Given the description of an element on the screen output the (x, y) to click on. 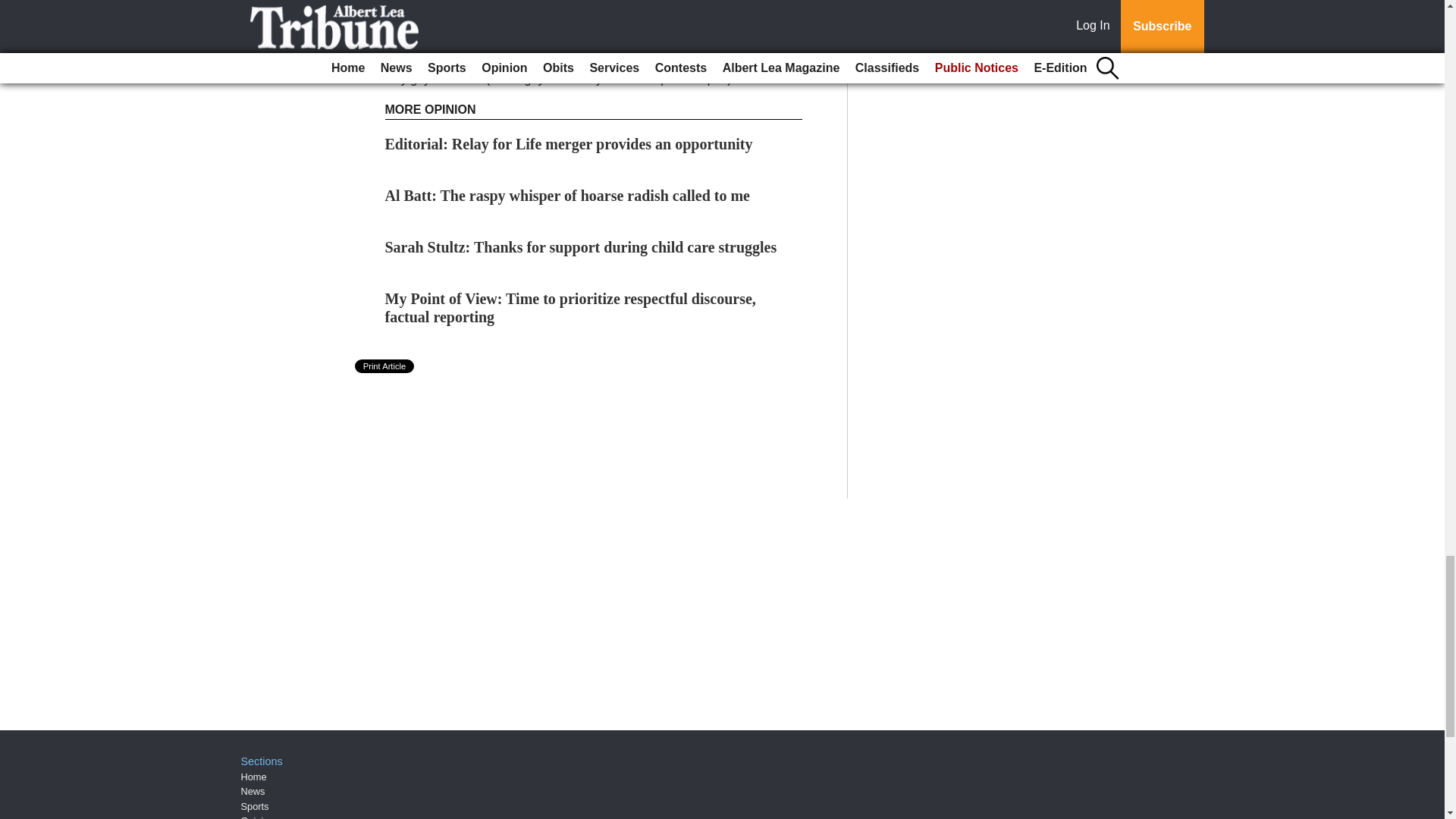
Al Batt: The raspy whisper of hoarse radish called to me (567, 195)
Sarah Stultz: Thanks for support during child care struggles (581, 247)
Editorial: Relay for Life merger provides an opportunity (568, 143)
